Given the description of an element on the screen output the (x, y) to click on. 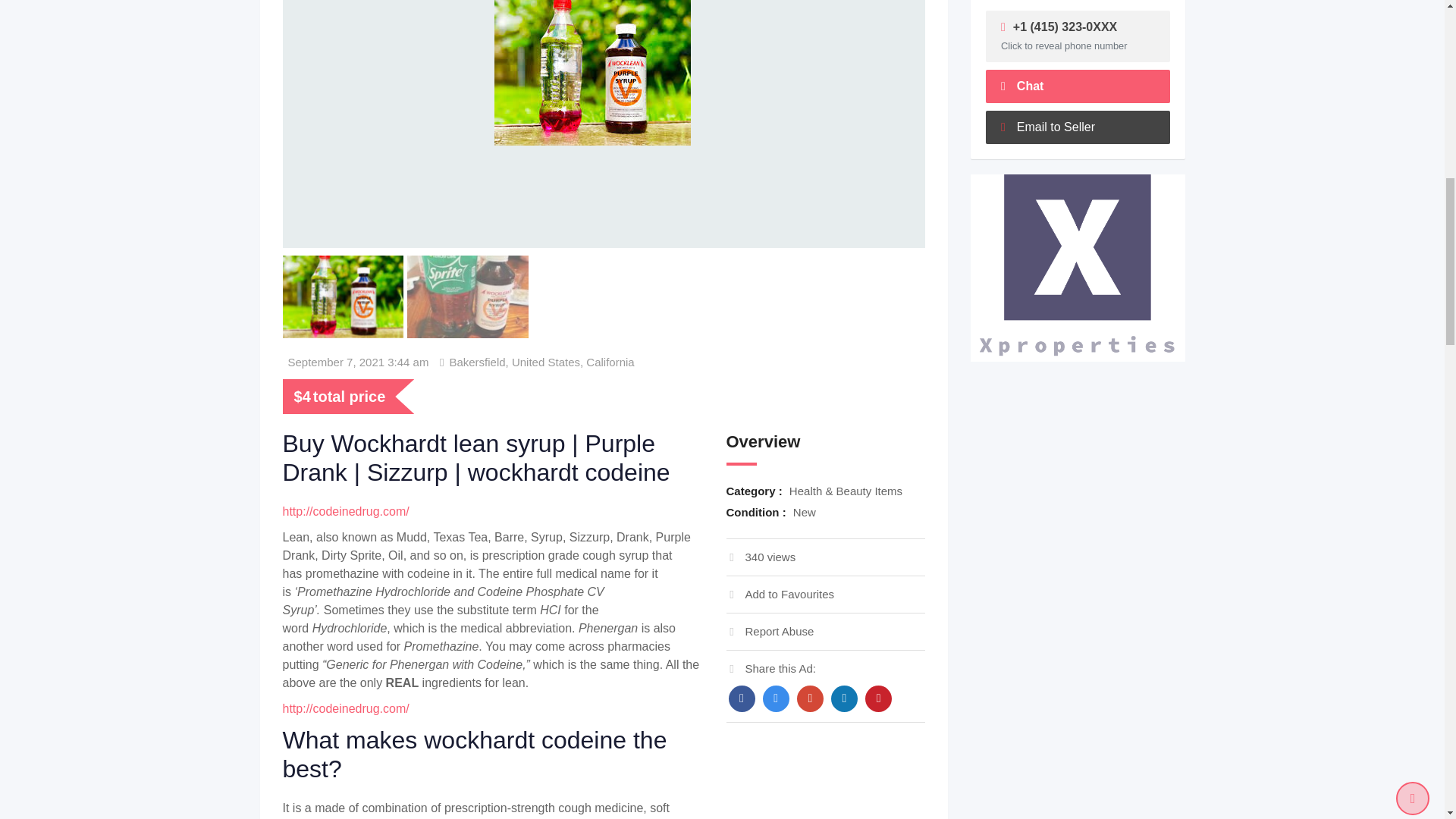
Add to Favourites (780, 594)
Report Abuse (769, 631)
